Given the description of an element on the screen output the (x, y) to click on. 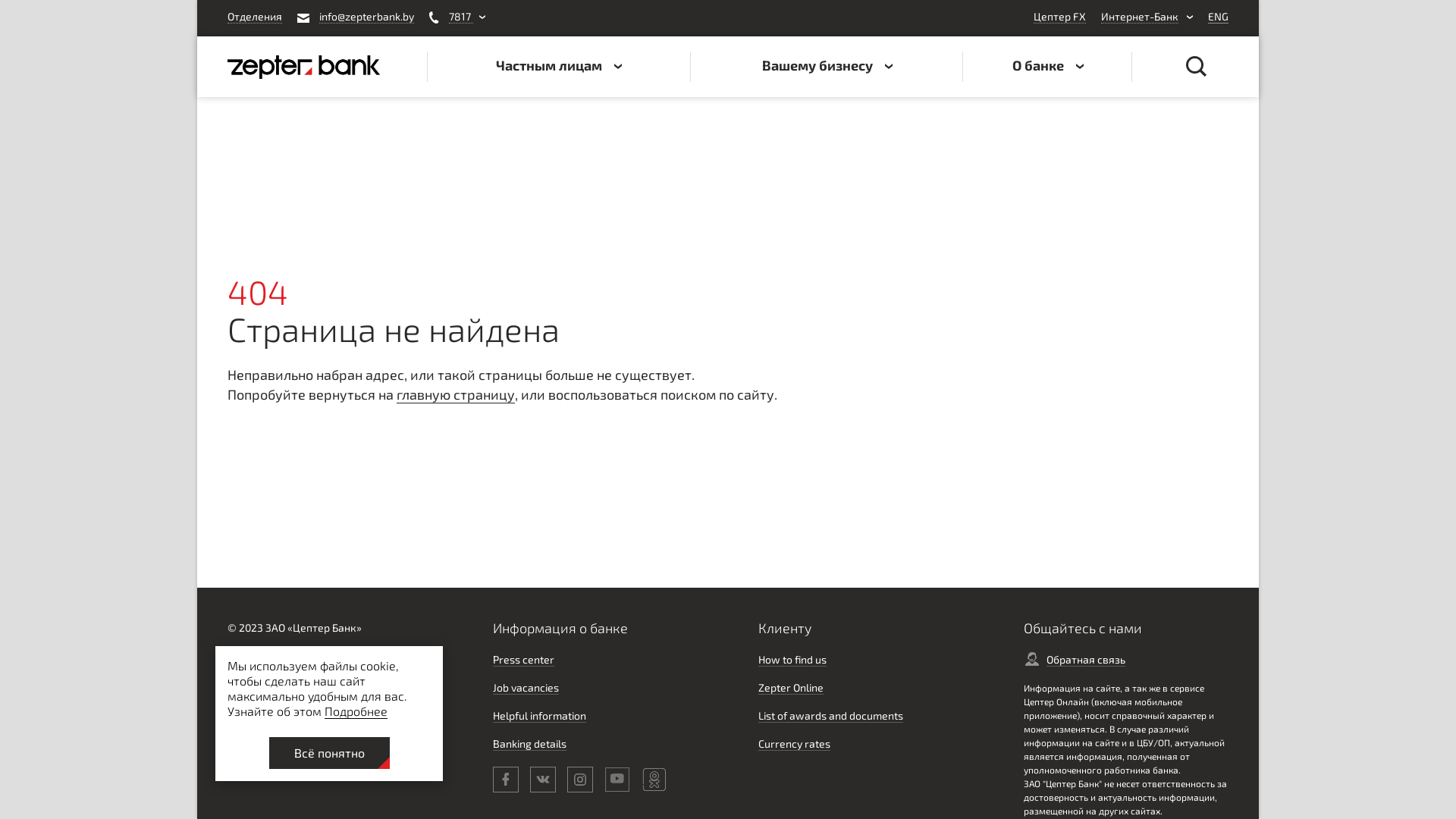
Banking details Element type: text (529, 743)
info@zepterbank.by Element type: text (355, 18)
Job vacancies Element type: text (525, 687)
Zepter Online Element type: text (790, 687)
Currency rates Element type: text (794, 743)
List of awards and documents Element type: text (830, 715)
ENG Element type: text (1218, 18)
Helpful information Element type: text (539, 715)
How to find us Element type: text (792, 659)
Press center Element type: text (523, 659)
